Given the description of an element on the screen output the (x, y) to click on. 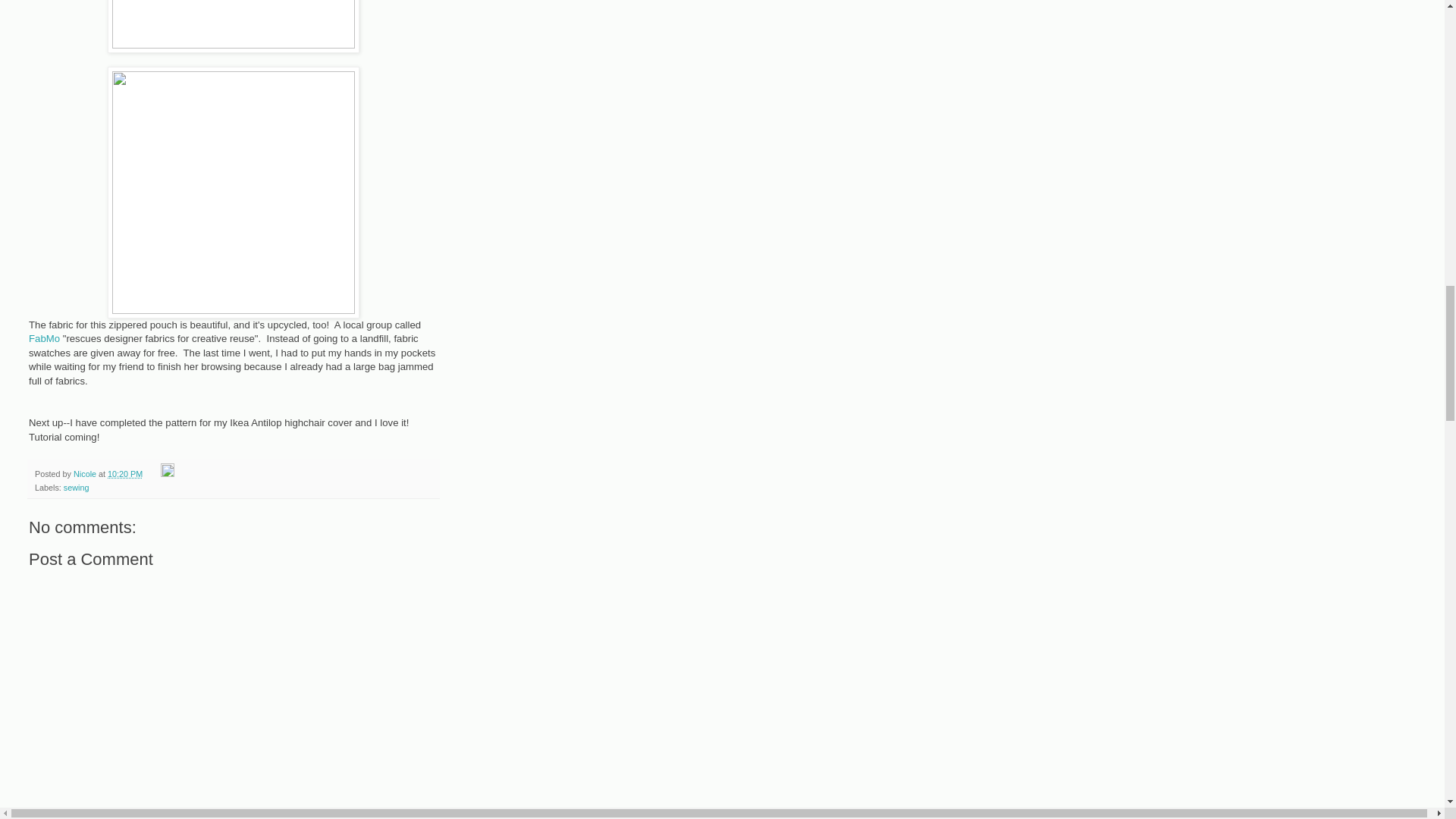
Email Post (152, 473)
FabMo (44, 337)
Edit Post (167, 473)
author profile (86, 473)
permanent link (124, 473)
10:20 PM (124, 473)
sewing (76, 487)
Nicole (86, 473)
